Given the description of an element on the screen output the (x, y) to click on. 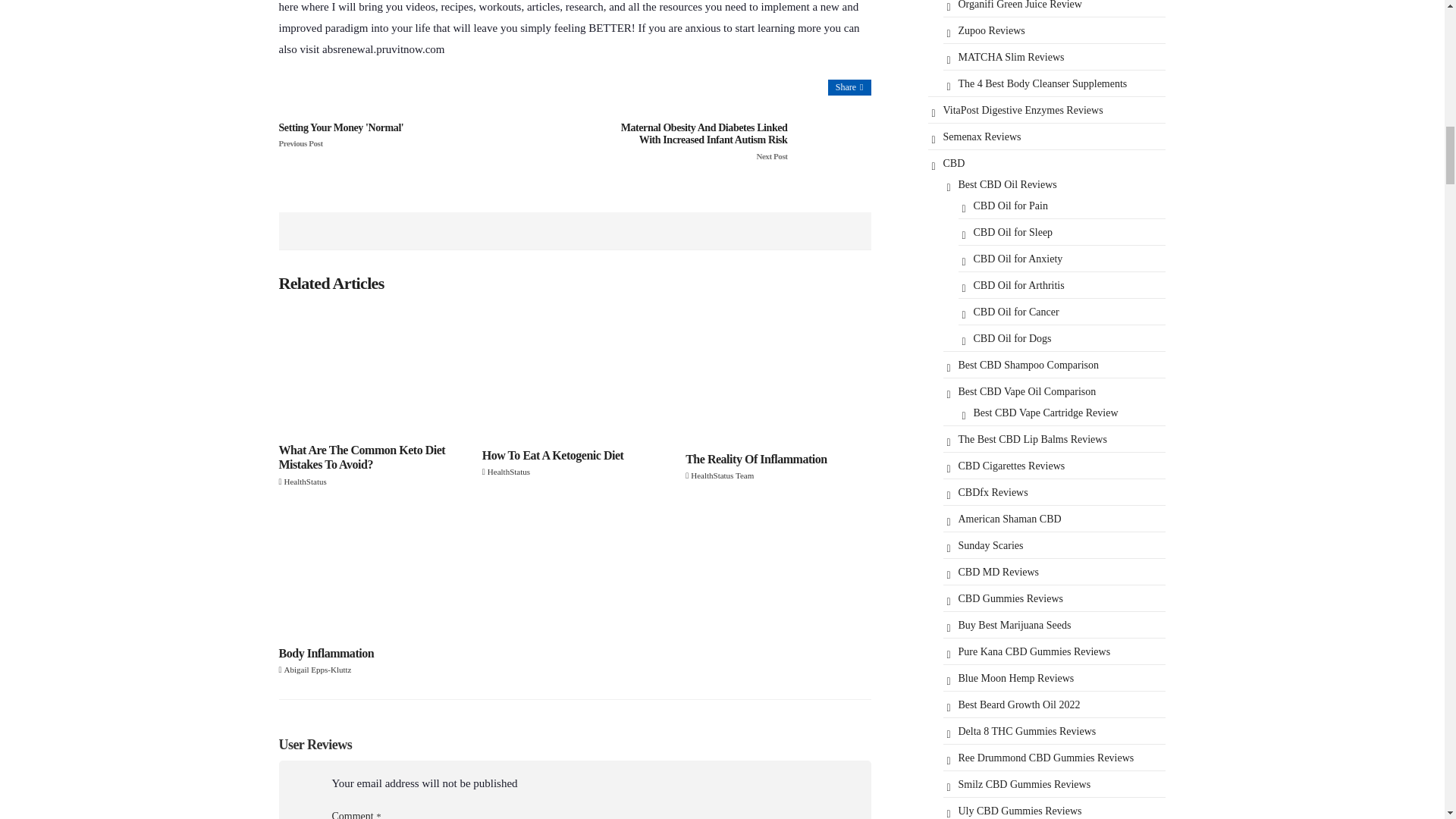
Body Inflammation (371, 572)
The Reality of Inflammation (777, 374)
How to Eat a Ketogenic Diet (573, 372)
What Are The Common Keto Diet Mistakes To Avoid? (371, 370)
